Given the description of an element on the screen output the (x, y) to click on. 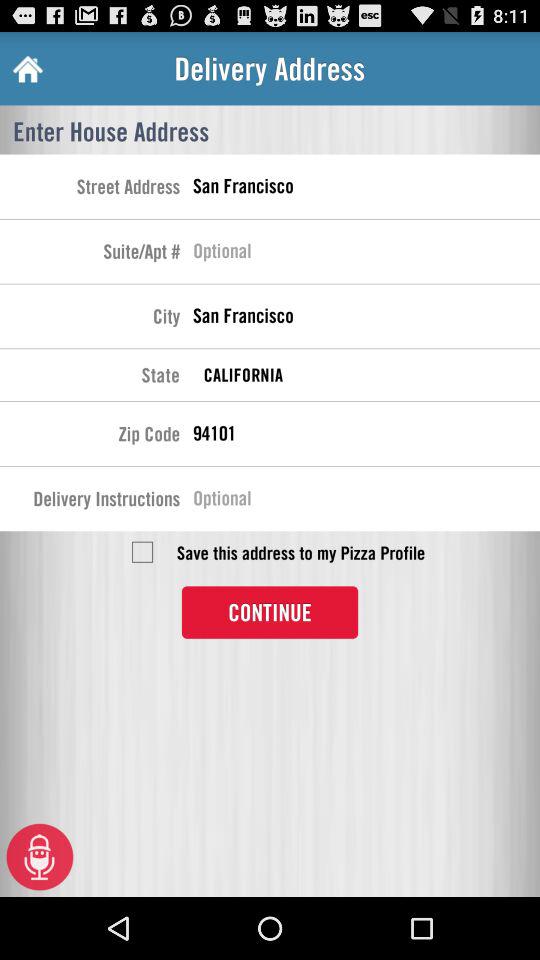
check off the save the address (142, 552)
